Given the description of an element on the screen output the (x, y) to click on. 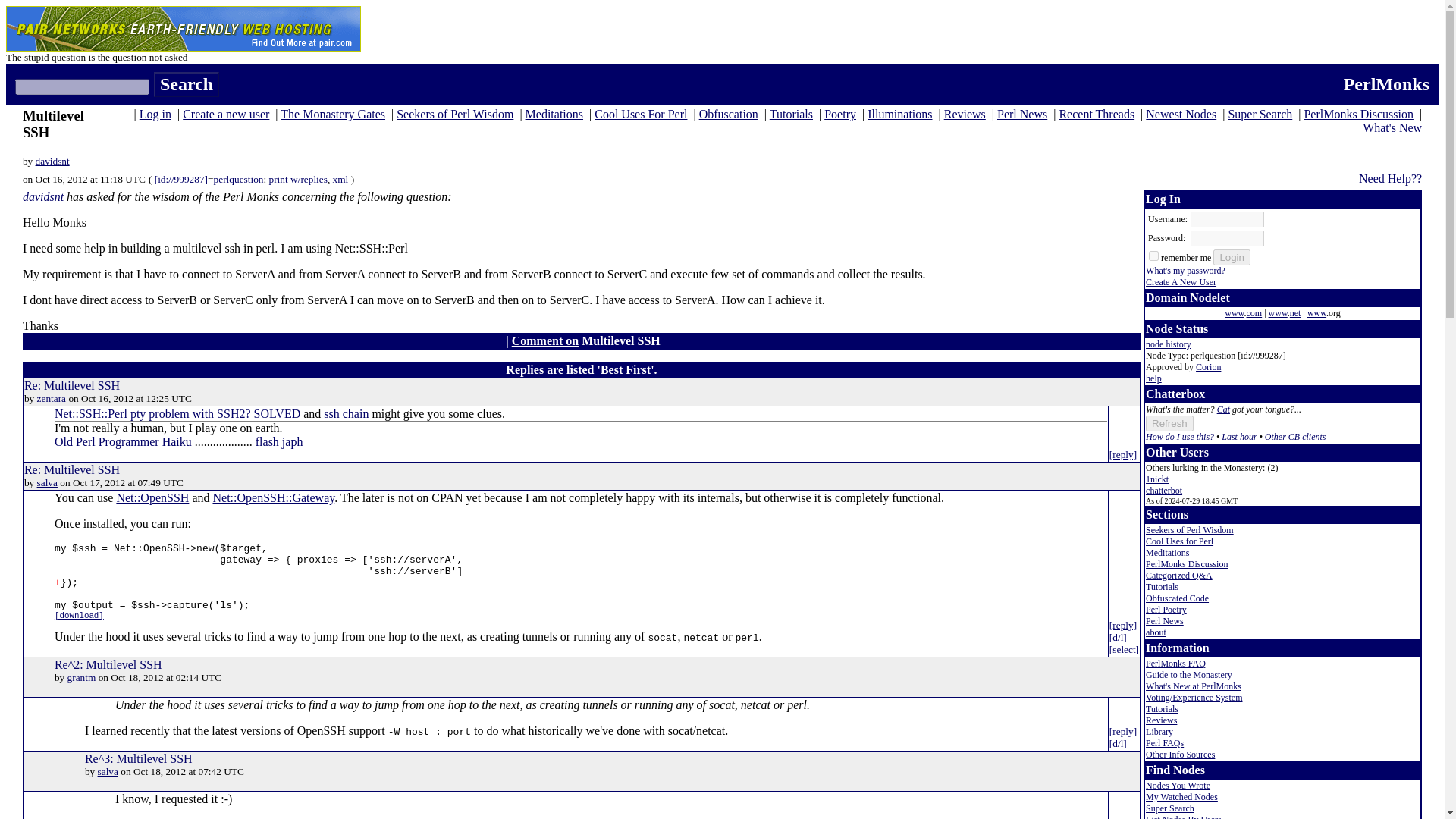
What's New (1392, 127)
Re: Multilevel SSH (71, 385)
davidsnt (43, 196)
Create a new user (226, 113)
perlquestion (238, 179)
Comment on (545, 340)
Log in (155, 113)
Meditations (554, 113)
Cool Uses For Perl (640, 113)
davidsnt (51, 161)
Login (1231, 257)
ssh chain (345, 413)
1nickt's home node. Level 20 (1157, 479)
flash japh (279, 440)
xml (341, 179)
